Given the description of an element on the screen output the (x, y) to click on. 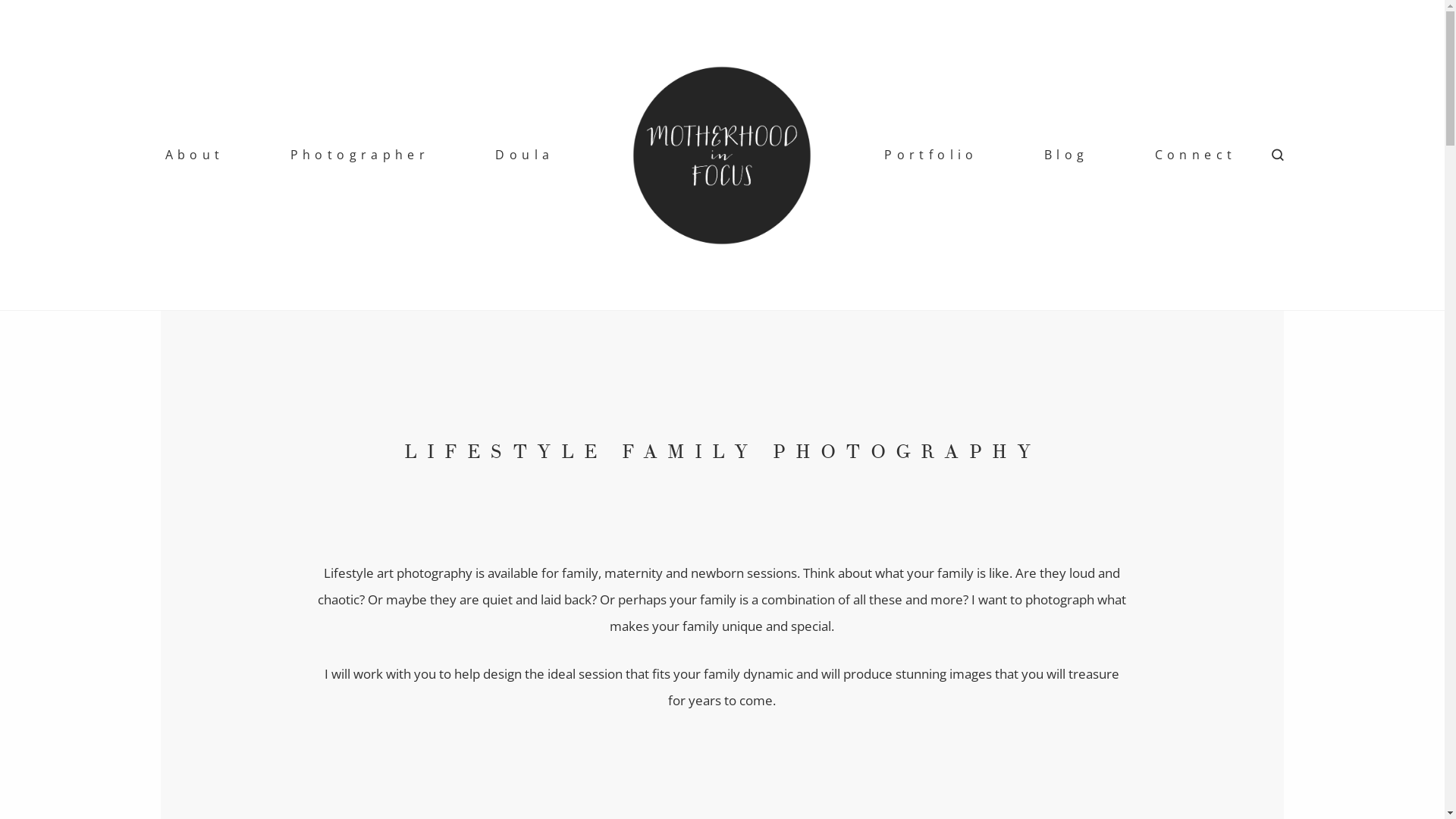
Connect Element type: text (1195, 154)
Photographer Element type: text (359, 154)
Portfolio Element type: text (931, 154)
Blog Element type: text (1066, 154)
About Element type: text (194, 154)
Doula Element type: text (524, 154)
